Given the description of an element on the screen output the (x, y) to click on. 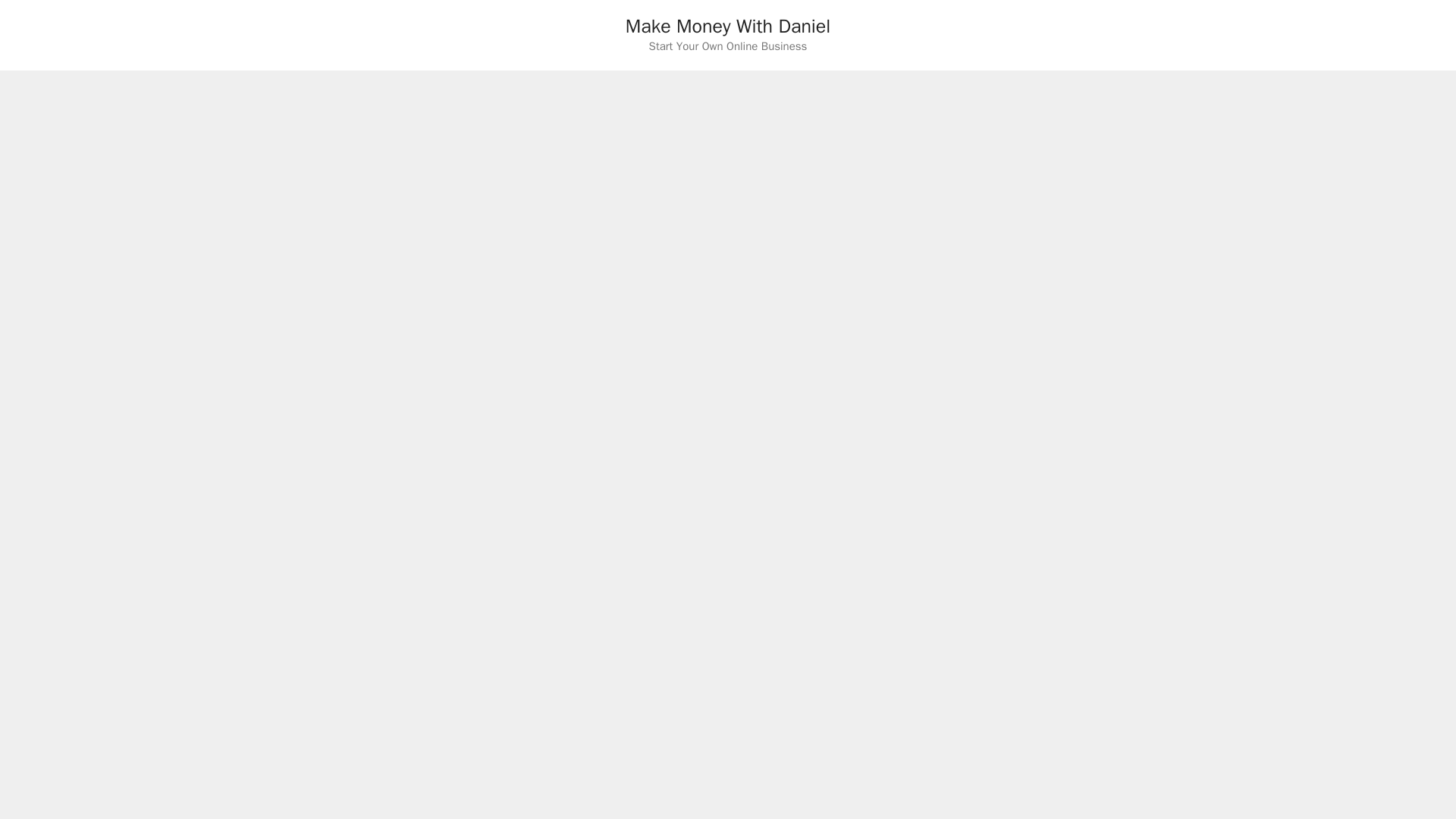
Make Money With Daniel (728, 25)
